Given the description of an element on the screen output the (x, y) to click on. 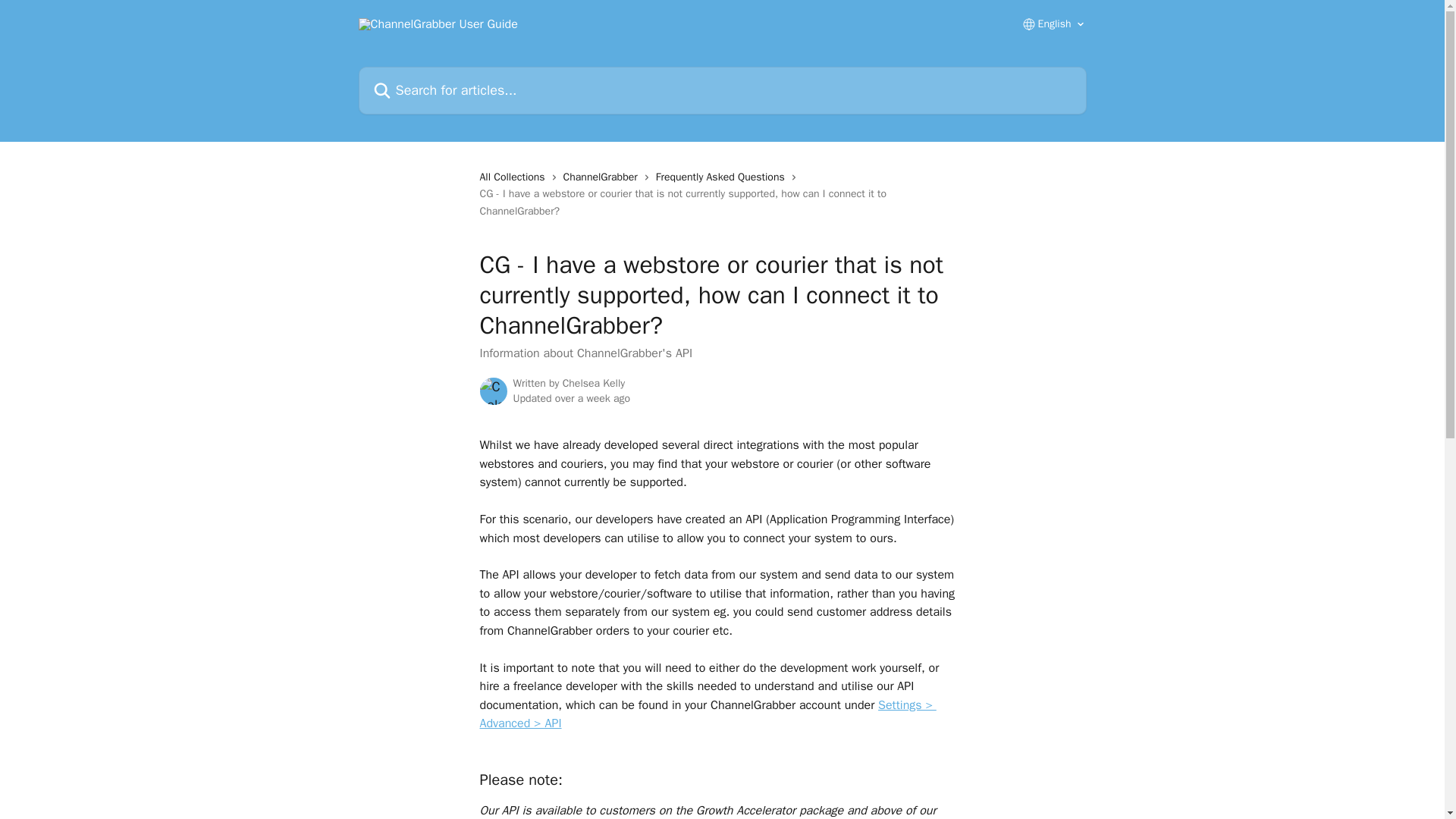
Frequently Asked Questions (723, 176)
ChannelGrabber (603, 176)
All Collections (514, 176)
